Given the description of an element on the screen output the (x, y) to click on. 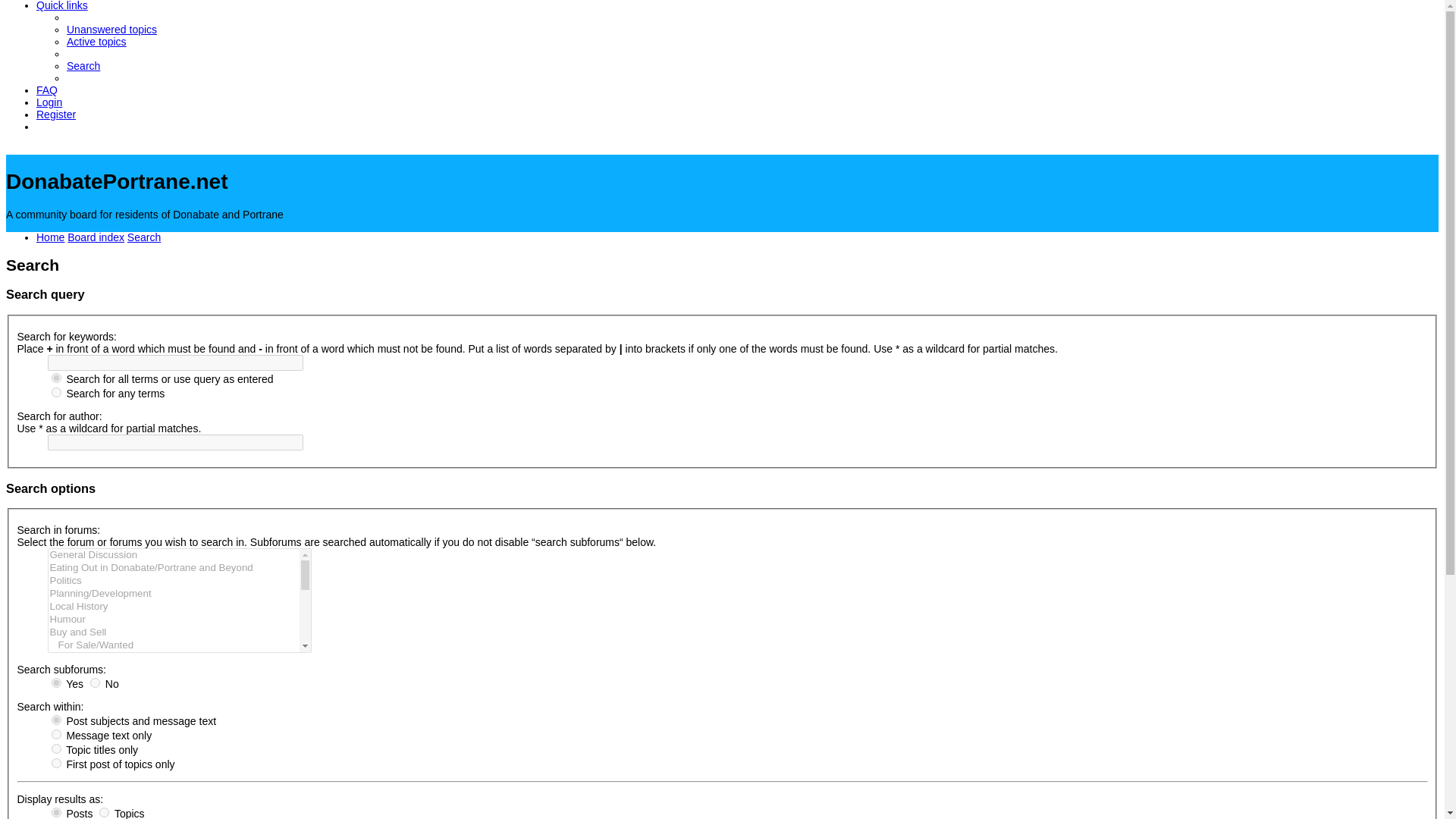
Board index (94, 236)
FAQ (47, 90)
any (55, 392)
Search (144, 236)
all (55, 378)
Frequently Asked Questions (47, 90)
0 (95, 682)
firstpost (55, 763)
Login (49, 102)
Active topics (96, 41)
1 (55, 682)
Search for keywords (174, 362)
posts (55, 812)
all (55, 719)
Quick links (61, 5)
